Given the description of an element on the screen output the (x, y) to click on. 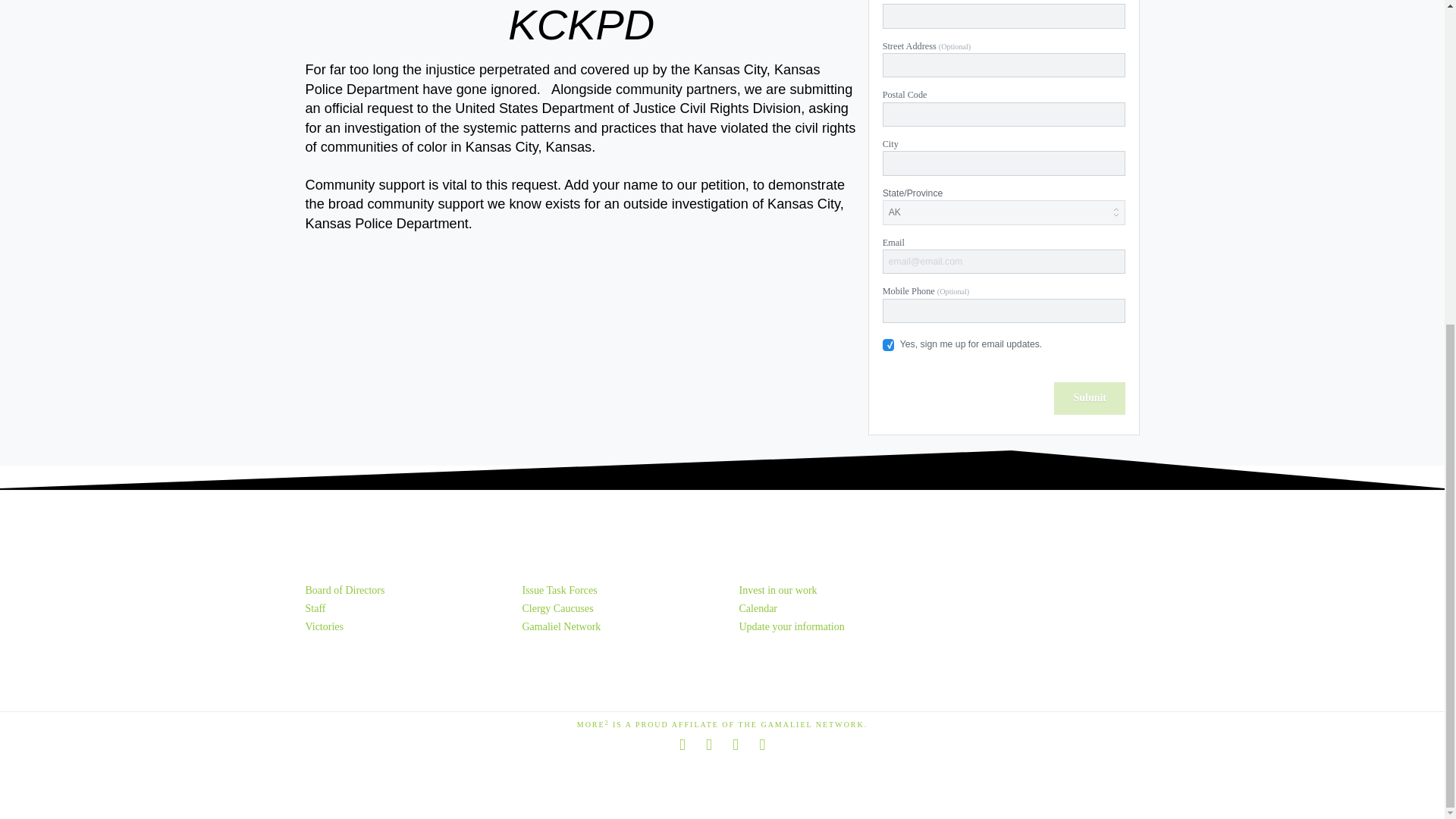
Submit (1089, 398)
YouTube (735, 744)
Instagram (761, 744)
Street Address (1003, 64)
Facebook (682, 744)
Mobile Phone (1003, 310)
Board of Directors (344, 590)
Submit (1089, 398)
